Given the description of an element on the screen output the (x, y) to click on. 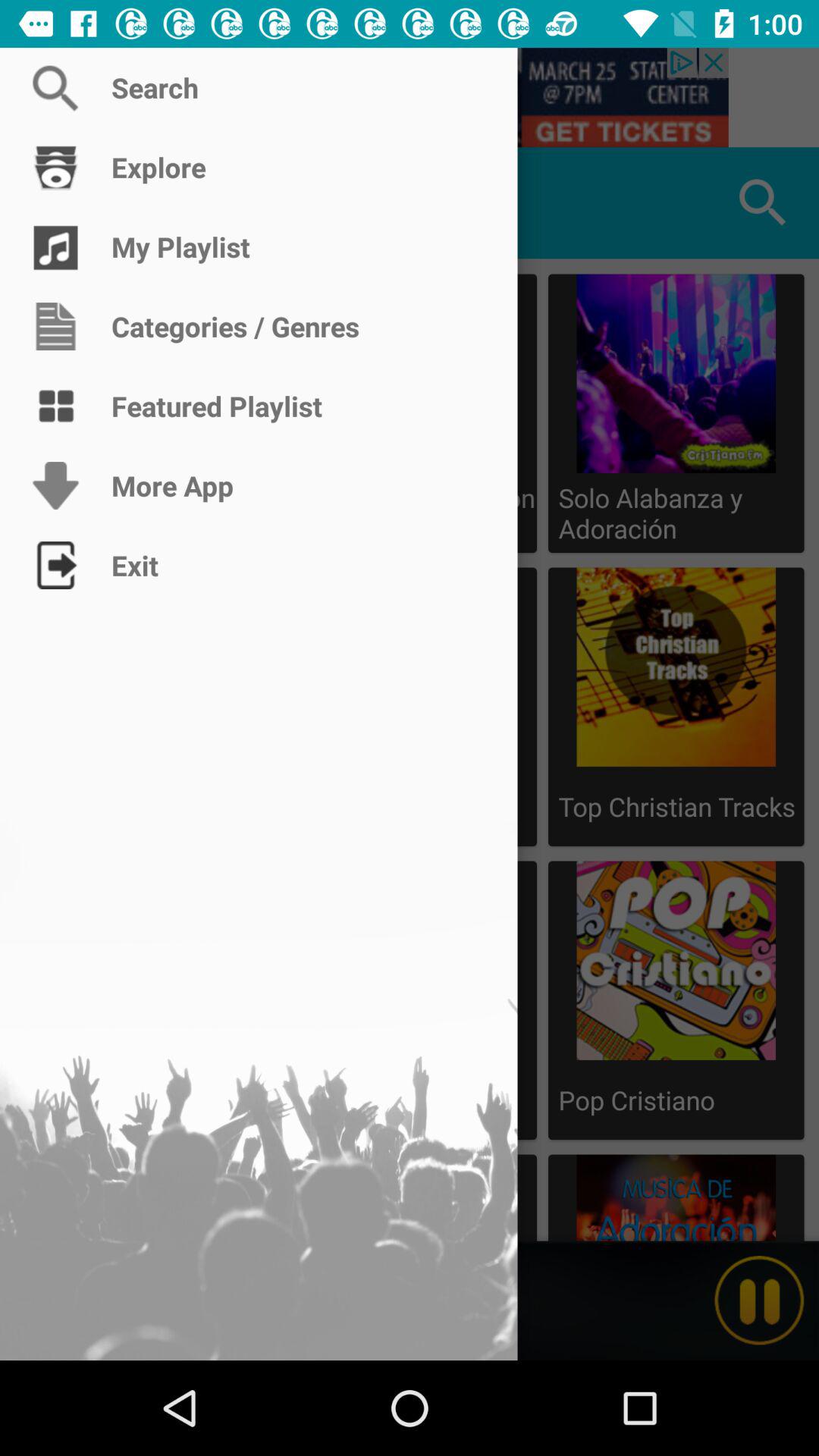
games playing options (55, 202)
